Given the description of an element on the screen output the (x, y) to click on. 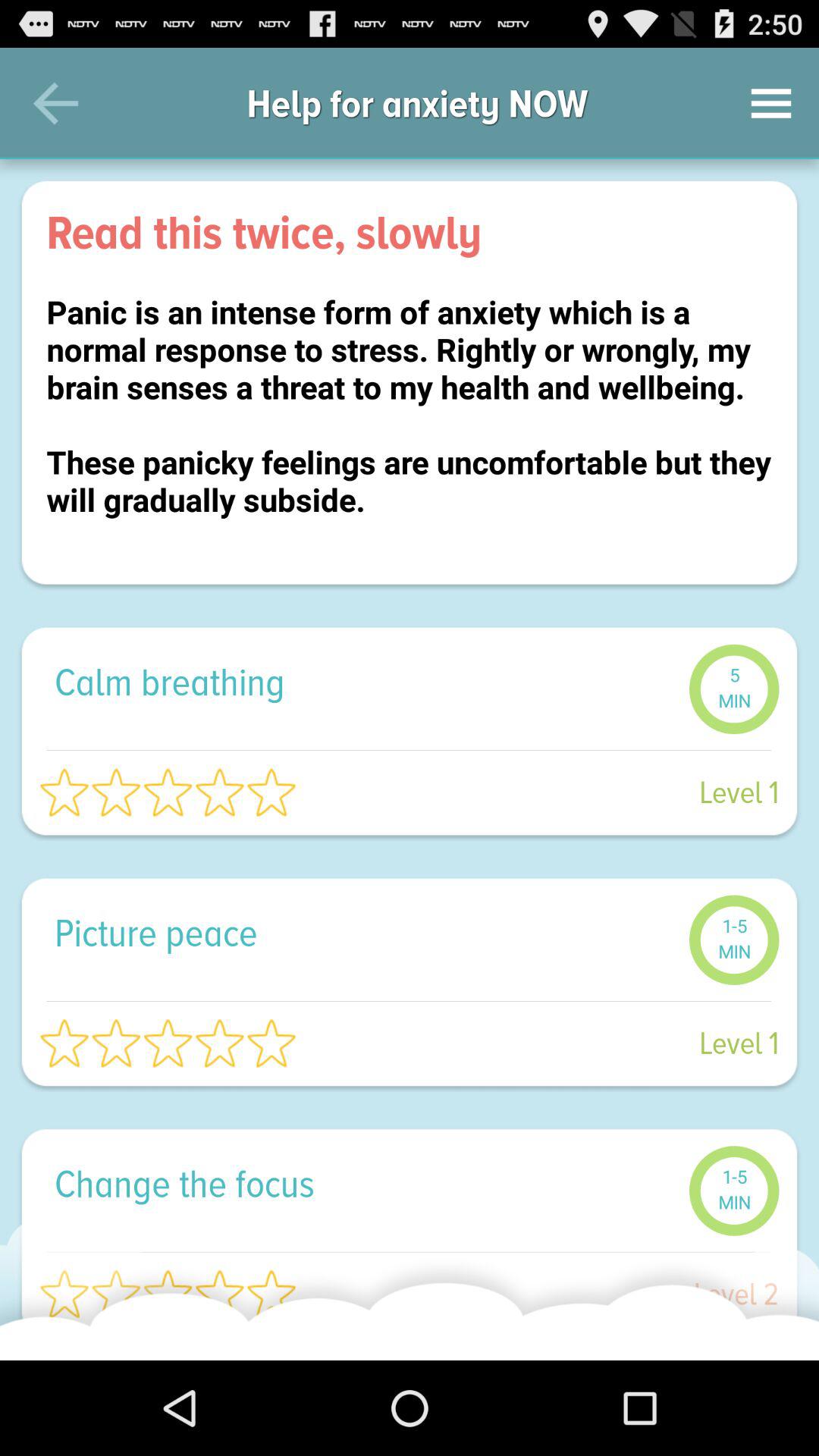
turn on the read this twice (409, 231)
